Given the description of an element on the screen output the (x, y) to click on. 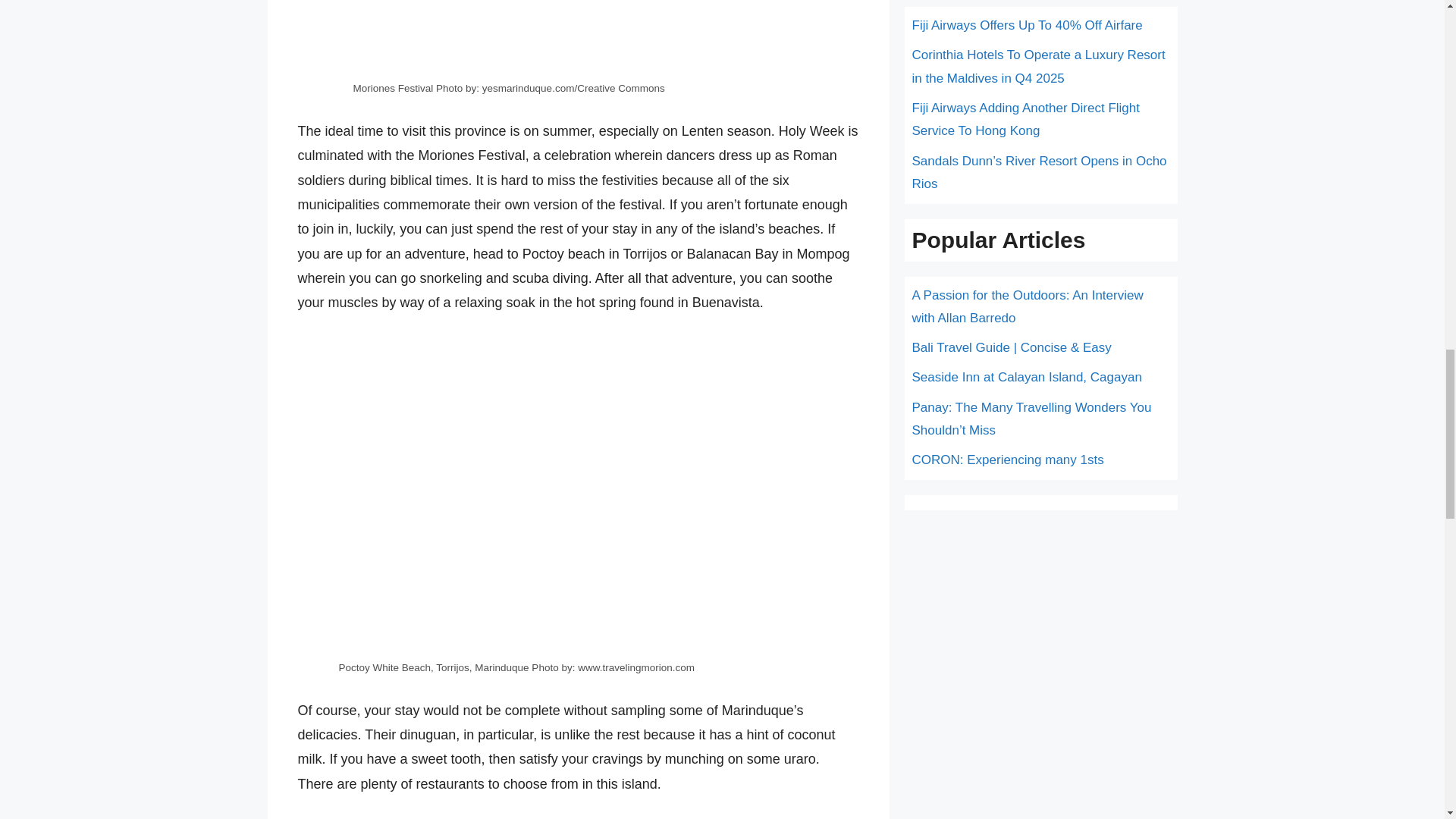
Travel Guide to Marinduque 2 (578, 38)
A Passion for the Outdoors: An Interview with Allan Barredo (1026, 306)
